Given the description of an element on the screen output the (x, y) to click on. 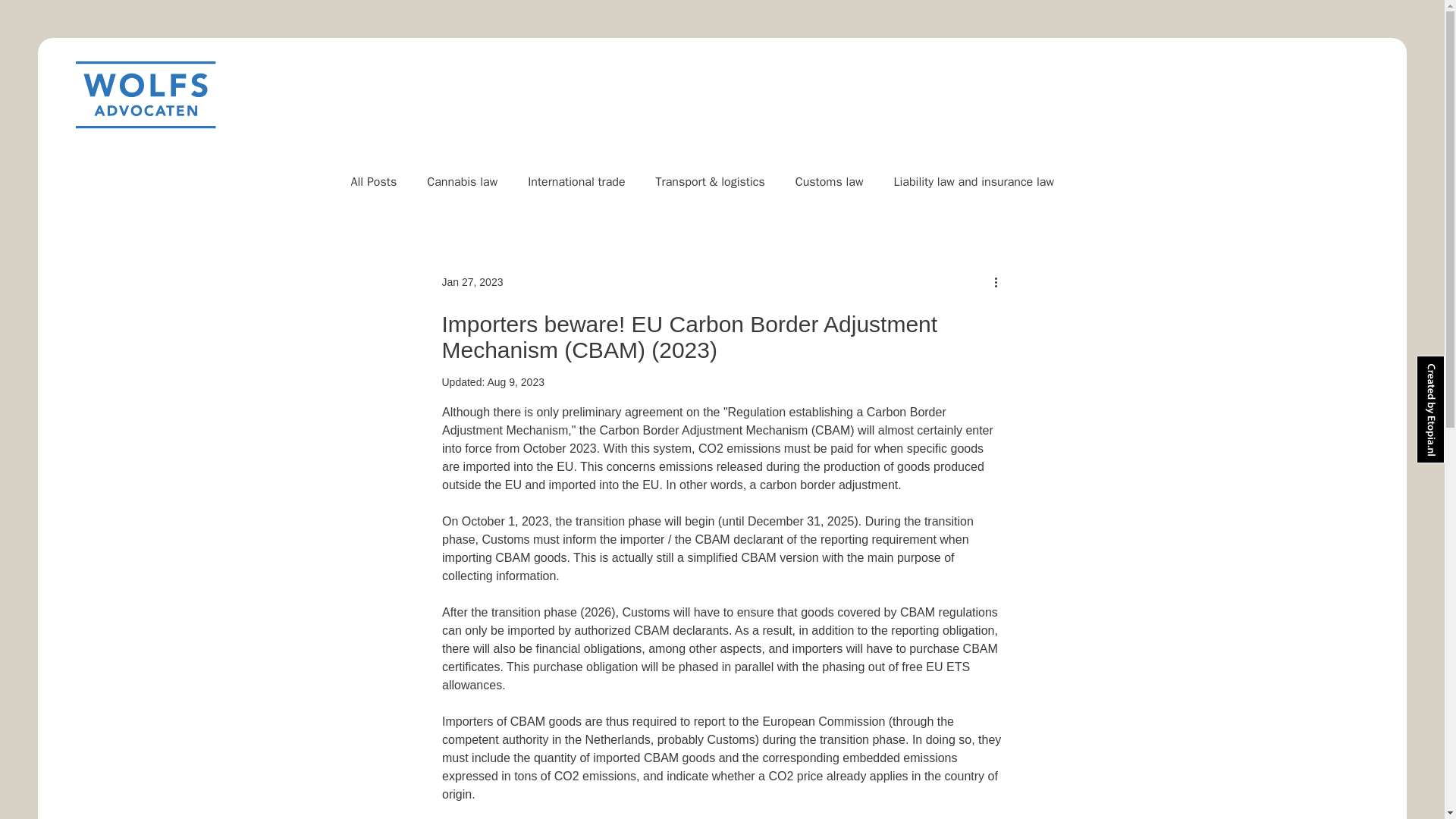
Jan 27, 2023 (471, 282)
International trade (575, 182)
Customs law (828, 182)
Aug 9, 2023 (515, 381)
Cannabis law (461, 182)
Liability law and insurance law (973, 182)
All Posts (373, 182)
